Given the description of an element on the screen output the (x, y) to click on. 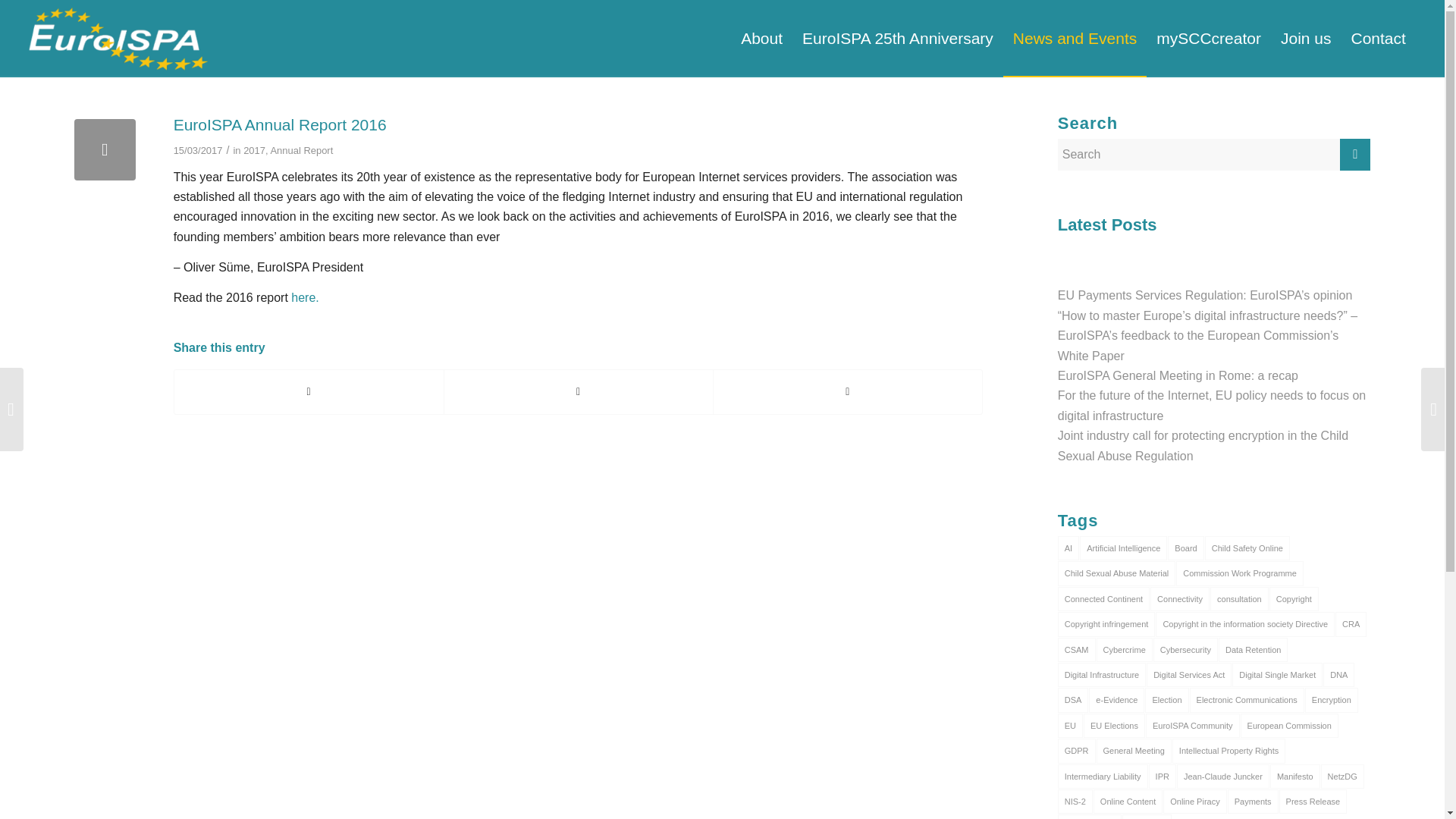
Copyright (1294, 598)
EuroISPA Annual Report 2016 (104, 149)
CRA (1351, 623)
Join us (1305, 38)
Copyright infringement (1107, 623)
News and Events (1075, 38)
Artificial Intelligence (1123, 548)
Contact (1377, 38)
